Given the description of an element on the screen output the (x, y) to click on. 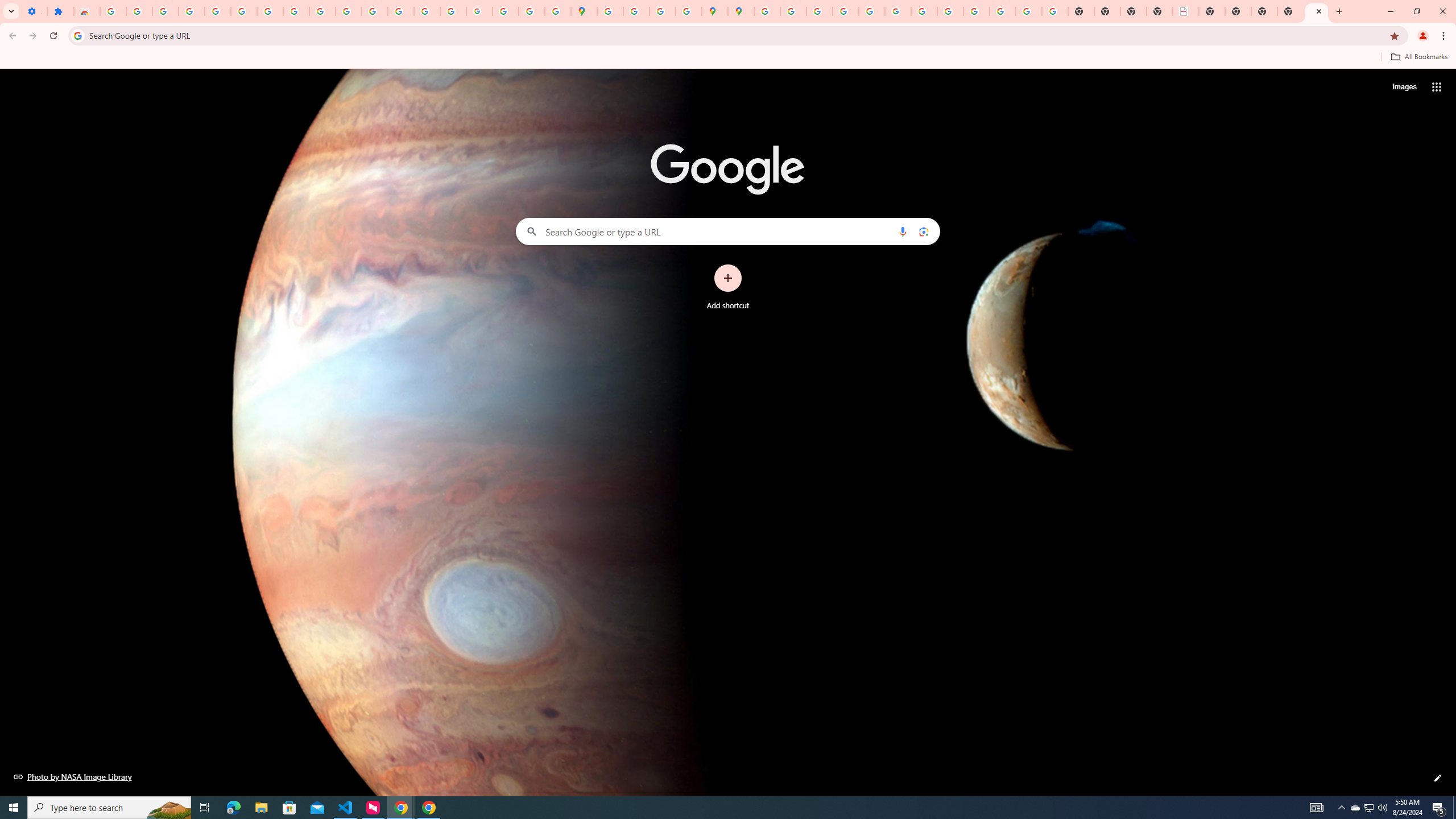
Google Maps (584, 11)
Add shortcut (727, 287)
Extensions (60, 11)
Privacy Help Center - Policies Help (818, 11)
Sign in - Google Accounts (112, 11)
